Given the description of an element on the screen output the (x, y) to click on. 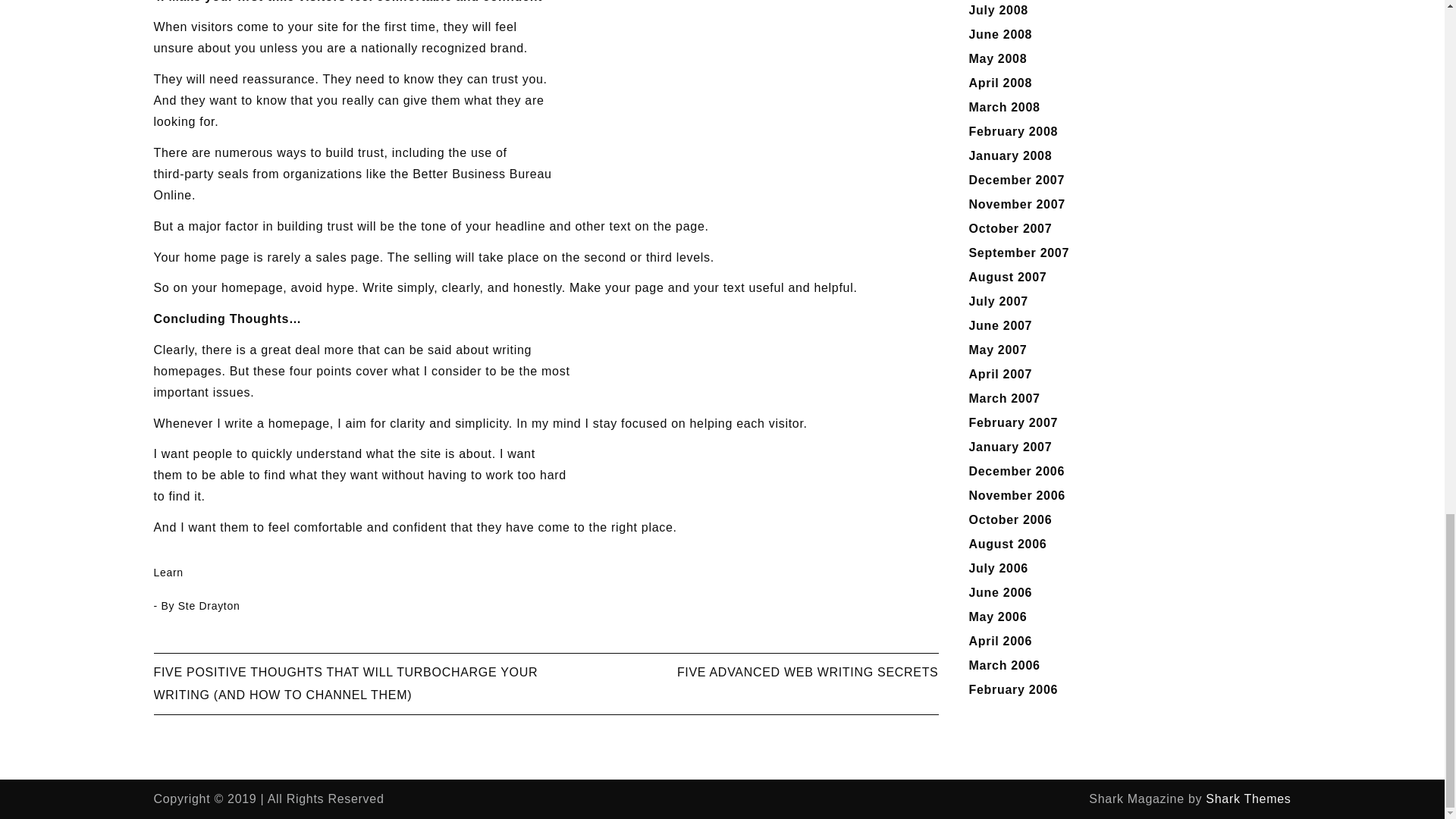
Learn (167, 572)
FIVE ADVANCED WEB WRITING SECRETS (808, 671)
Ste Drayton (208, 605)
